Given the description of an element on the screen output the (x, y) to click on. 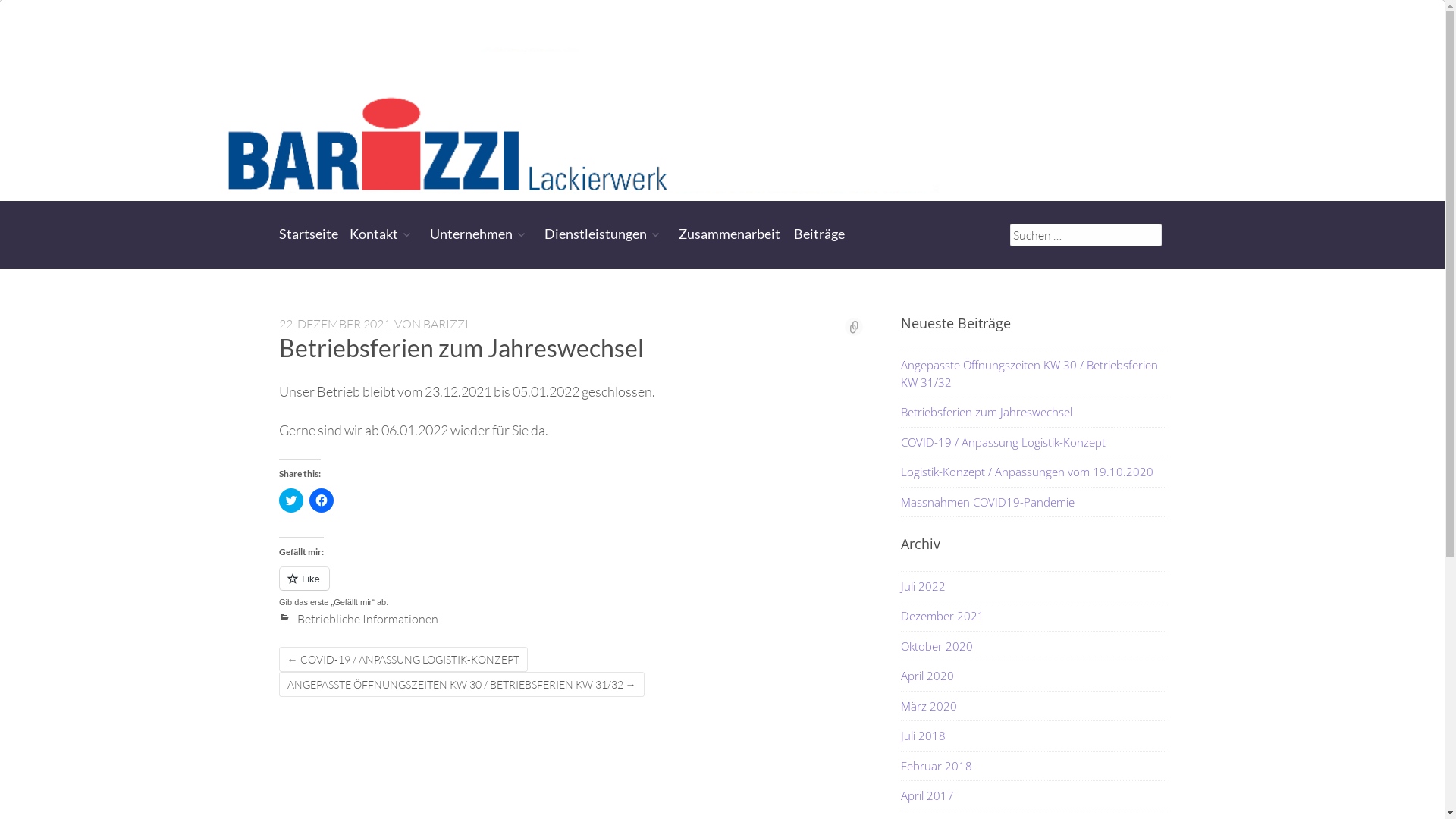
Startseite Element type: text (308, 233)
Februar 2018 Element type: text (936, 765)
22. DEZEMBER 2021 Element type: text (334, 323)
Massnahmen COVID19-Pandemie Element type: text (1033, 502)
Oktober 2020 Element type: text (936, 645)
COVID-19 / Anpassung Logistik-Konzept Element type: text (1033, 442)
Juli 2022 Element type: text (922, 585)
Betriebsferien zum Jahreswechsel Element type: text (1033, 411)
Unternehmen Element type: text (479, 233)
Suche Element type: text (29, 15)
Logistik-Konzept / Anpassungen vom 19.10.2020 Element type: text (1033, 471)
Dienstleistungen Element type: text (604, 233)
BARIZZI Element type: text (445, 323)
Dezember 2021 Element type: text (942, 615)
Betriebliche Informationen Element type: text (358, 618)
Barizzi Lackierwerk Element type: text (722, 100)
April 2020 Element type: text (926, 675)
Juli 2018 Element type: text (922, 735)
April 2017 Element type: text (926, 795)
Kontakt Element type: text (381, 233)
Liken oder rebloggen Element type: hover (570, 587)
Suche nach: Element type: hover (1085, 234)
Zusammenarbeit Element type: text (728, 233)
